Given the description of an element on the screen output the (x, y) to click on. 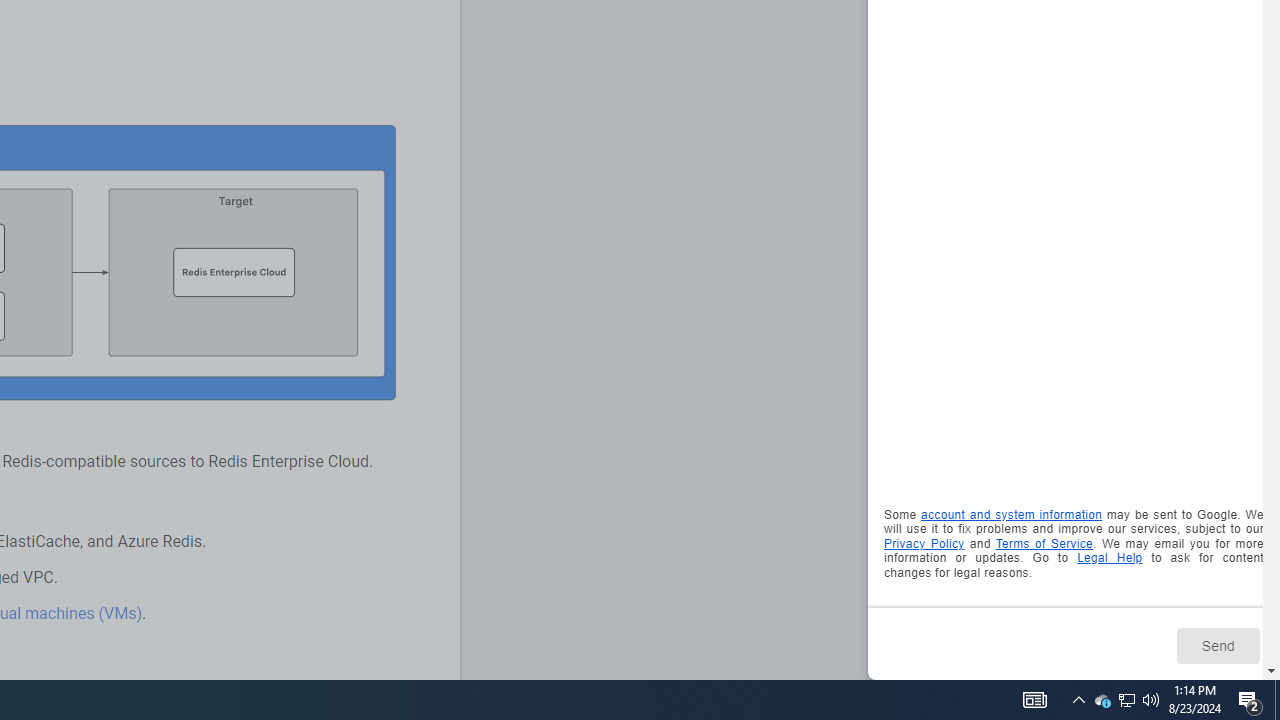
Send (1217, 645)
Opens in a new tab. Legal Help (1109, 557)
Opens in a new tab. Terms of Service (1044, 542)
account and system information (1012, 515)
Opens in a new tab. Privacy Policy (924, 542)
